Given the description of an element on the screen output the (x, y) to click on. 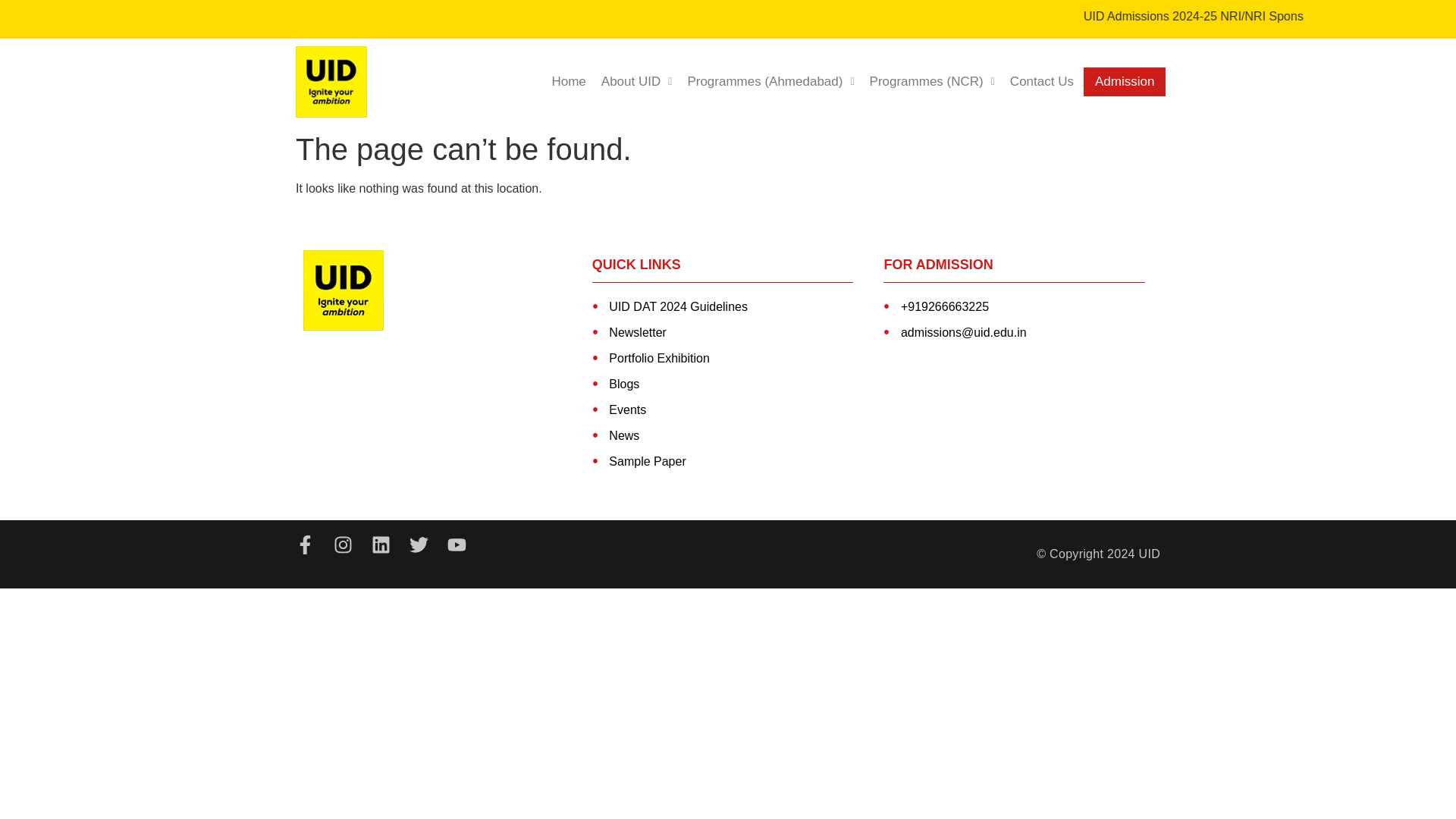
Admission (1124, 81)
Contact Us (1042, 81)
Home (567, 81)
About UID (636, 81)
